Given the description of an element on the screen output the (x, y) to click on. 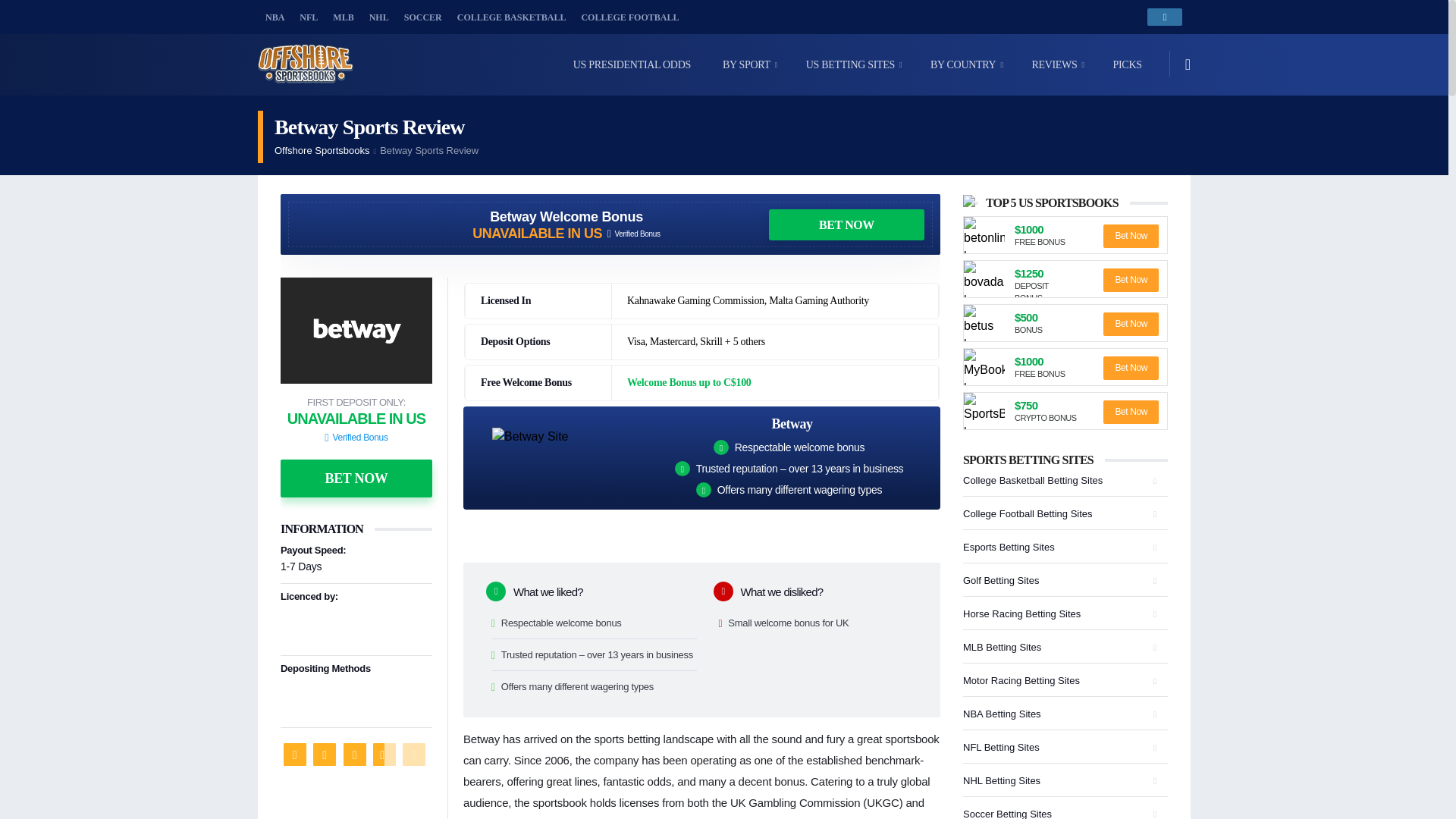
US Presidential Odds (631, 64)
NFL (308, 17)
NHL (378, 17)
College Basketball (511, 17)
By Sport (746, 64)
NBA (274, 17)
Soccer (422, 17)
MLB (342, 17)
US PRESIDENTIAL ODDS (631, 64)
NHL (378, 17)
College Football (629, 17)
BY COUNTRY (962, 64)
NBA (274, 17)
NFL (308, 17)
MLB (342, 17)
